Given the description of an element on the screen output the (x, y) to click on. 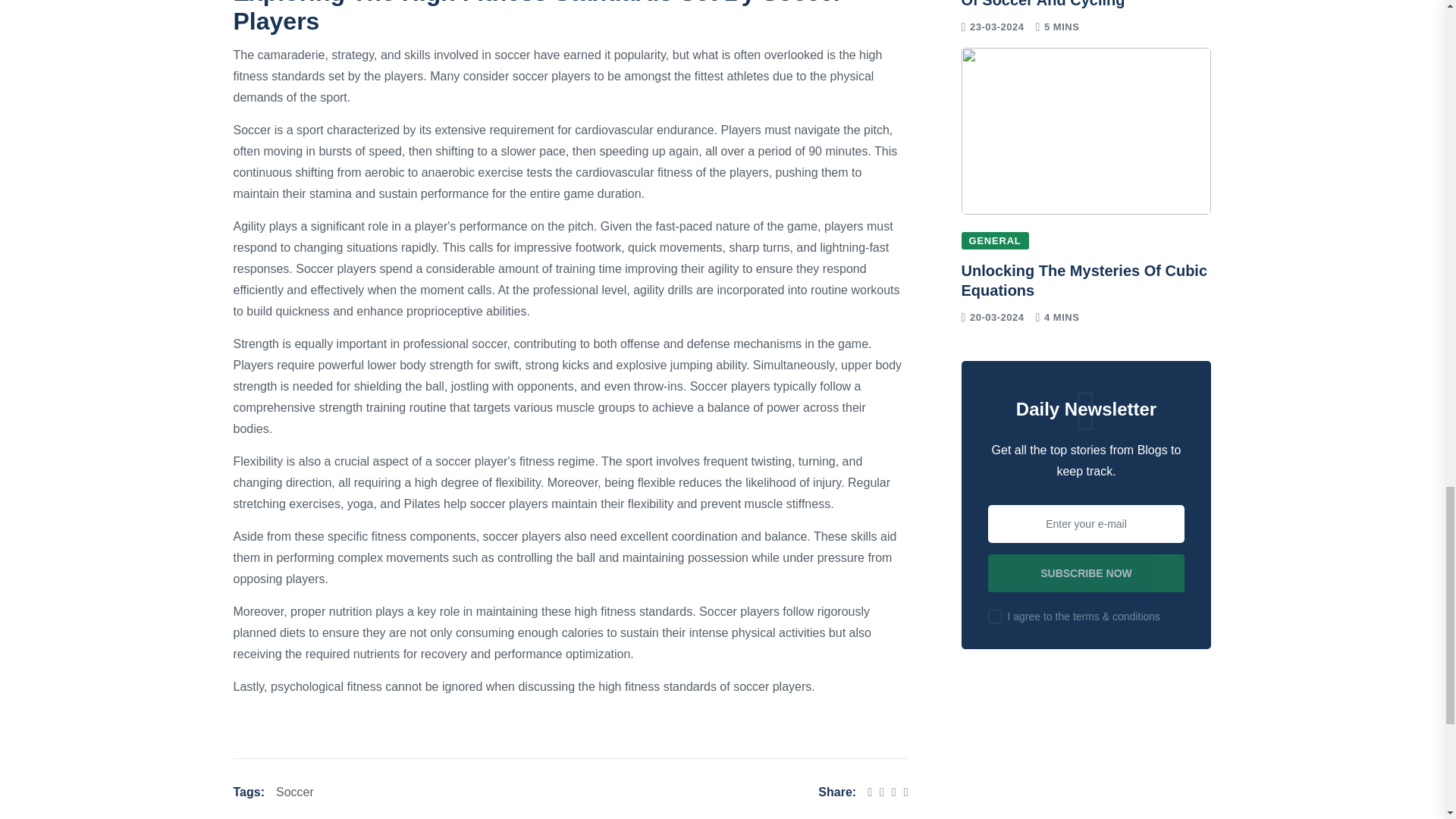
on (994, 616)
